Given the description of an element on the screen output the (x, y) to click on. 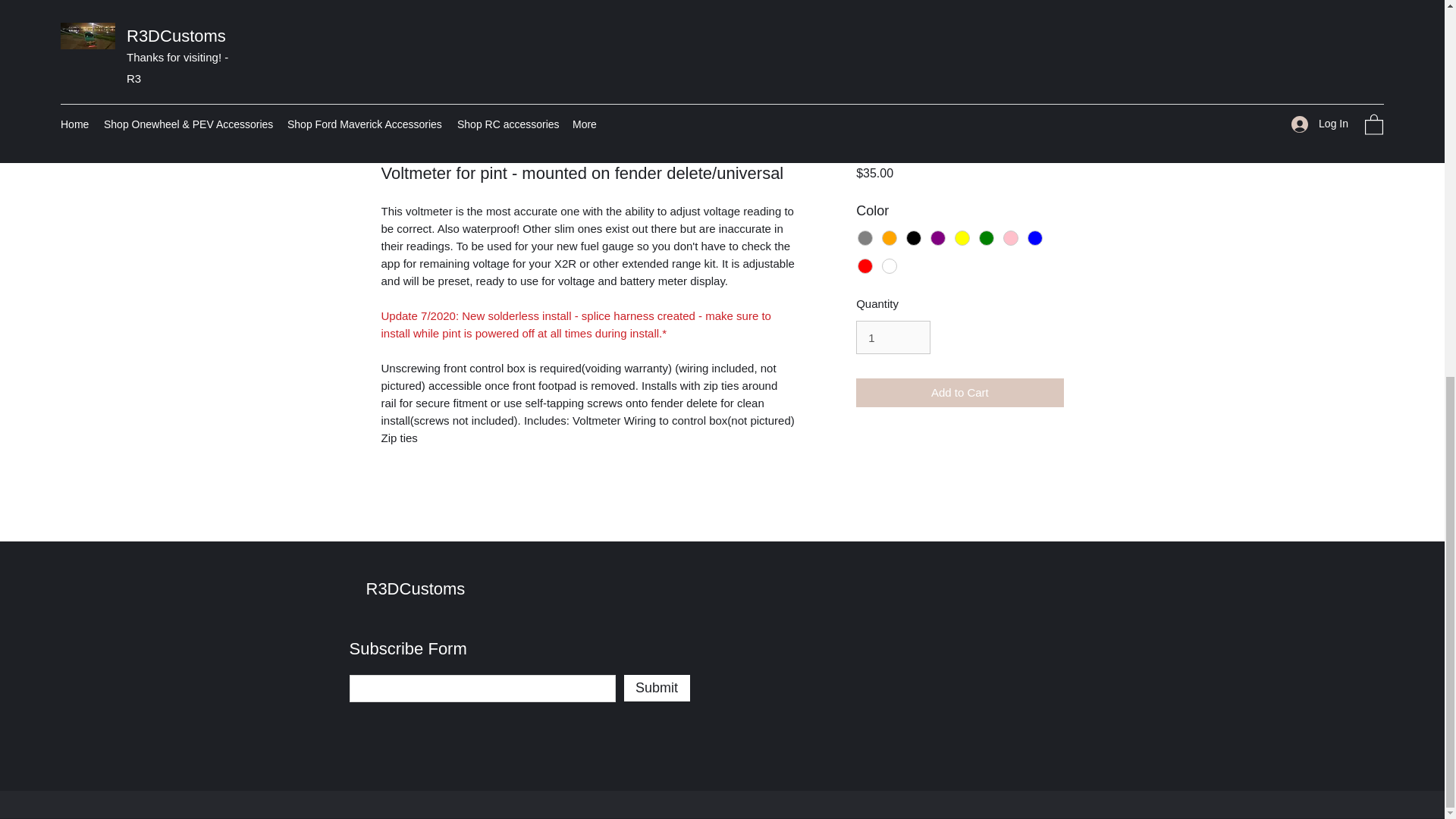
Submit (655, 687)
1 (893, 337)
Add to Cart (959, 392)
